Given the description of an element on the screen output the (x, y) to click on. 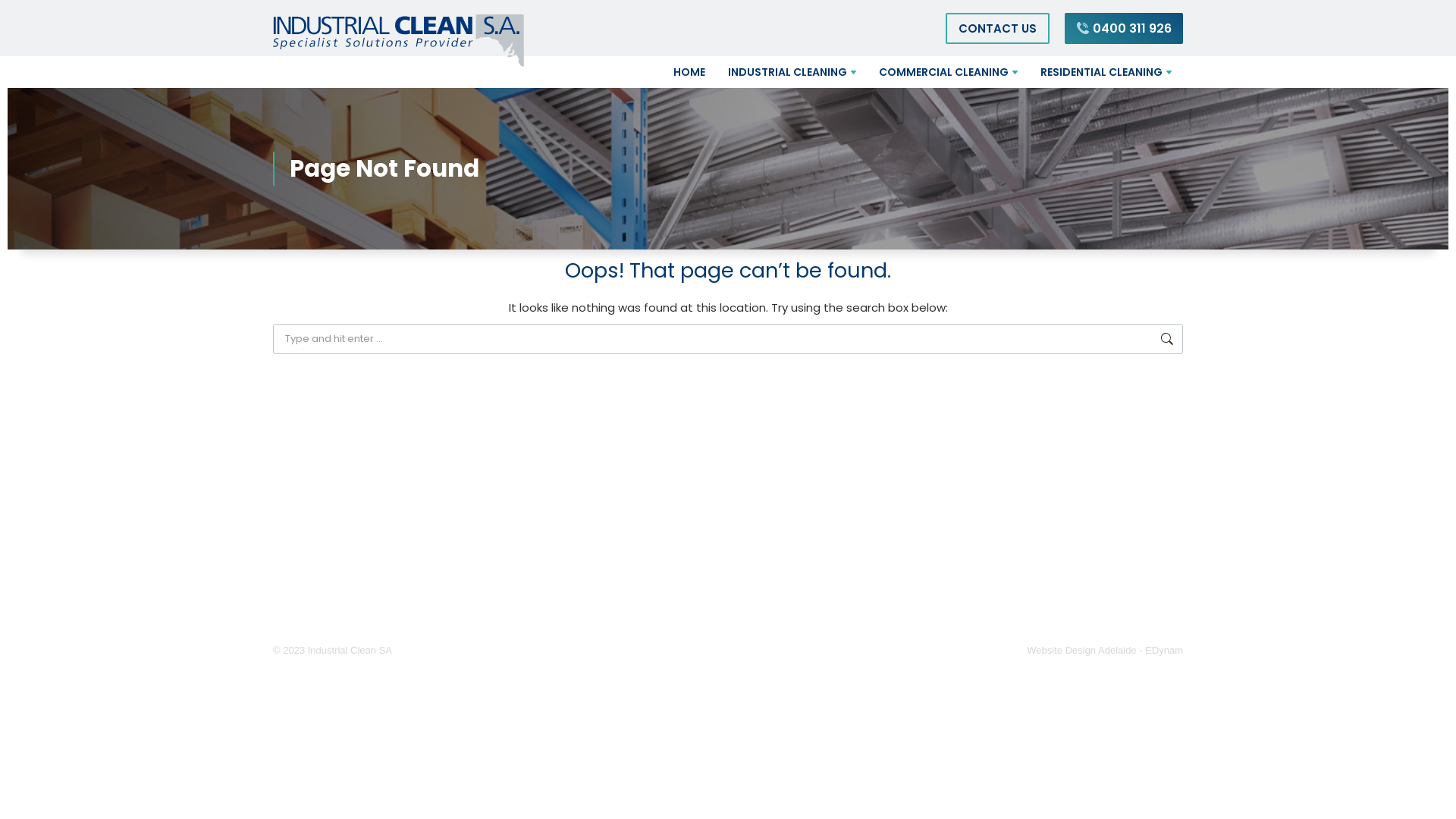
0400 311 926 Element type: text (1123, 27)
CONTACT US Element type: text (997, 27)
Website Design Adelaide - EDynam Element type: text (1104, 649)
INDUSTRIAL CLEANING Element type: text (791, 71)
RESIDENTIAL CLEANING Element type: text (1106, 71)
Go! Element type: text (1199, 342)
COMMERCIAL CLEANING Element type: text (948, 71)
HOME Element type: text (689, 71)
